Given the description of an element on the screen output the (x, y) to click on. 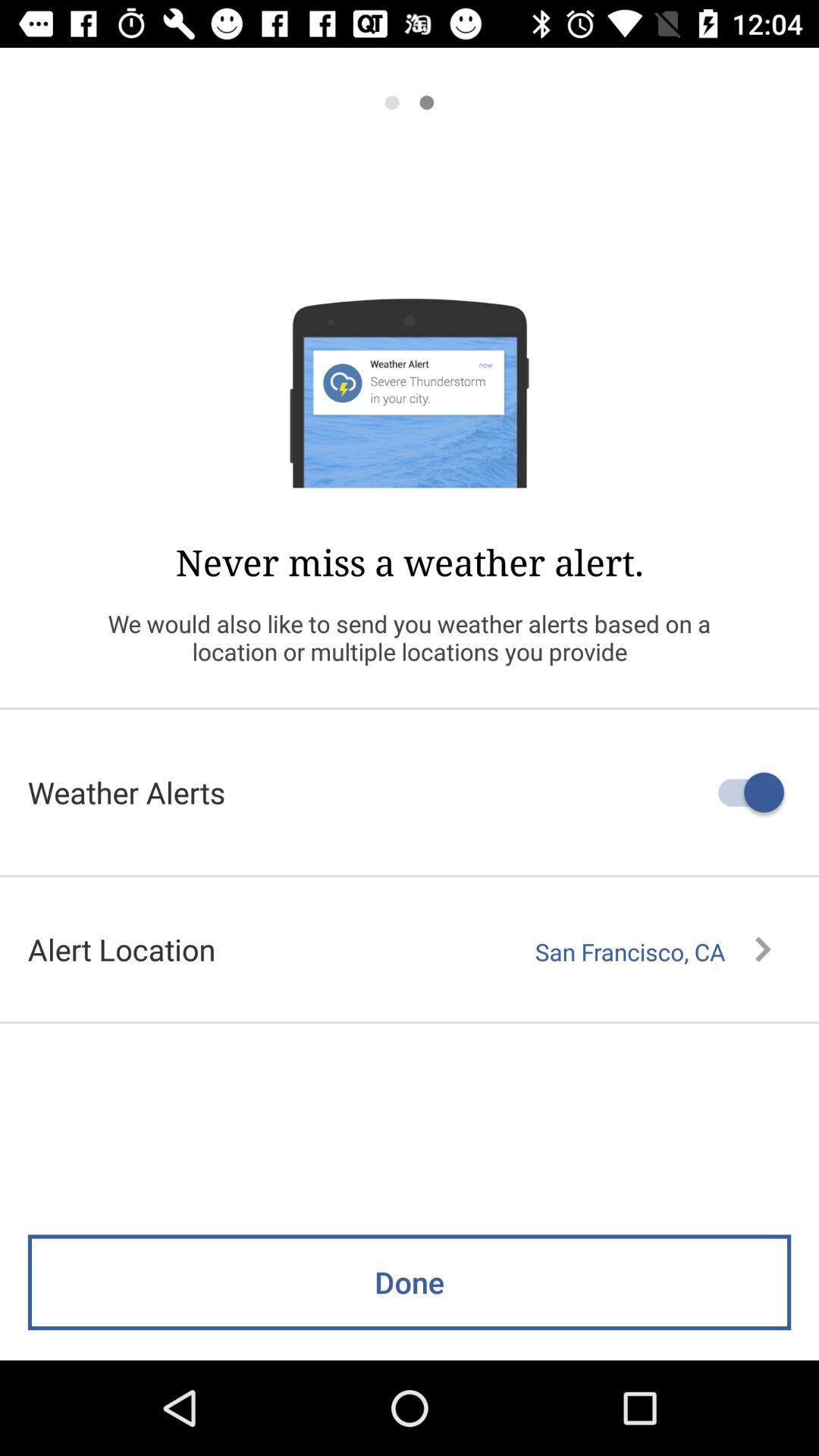
turn on the item to the right of alert location item (653, 951)
